Given the description of an element on the screen output the (x, y) to click on. 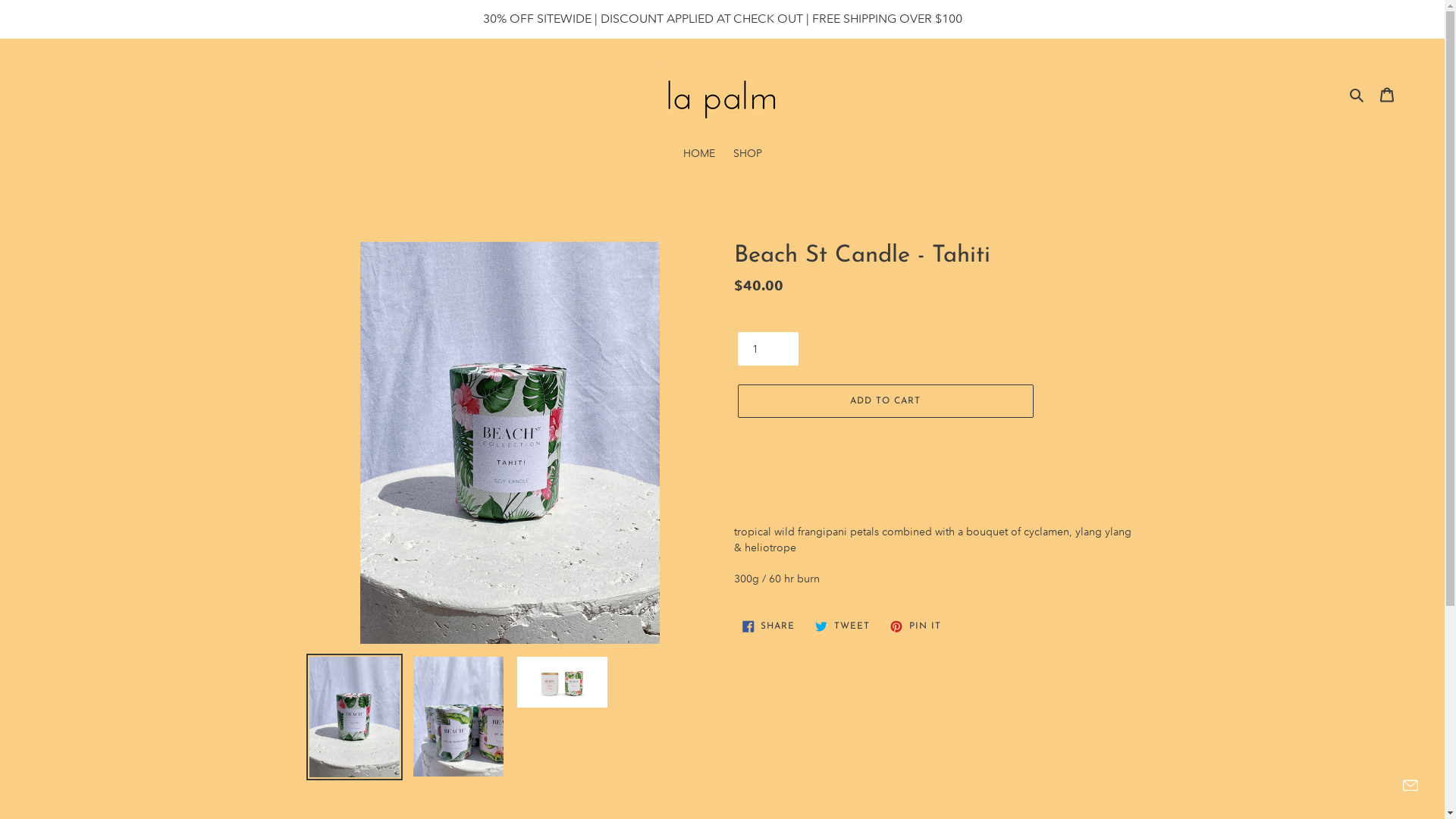
Search Element type: text (1357, 93)
TWEET
TWEET ON TWITTER Element type: text (842, 626)
SHARE
SHARE ON FACEBOOK Element type: text (768, 626)
SHOP Element type: text (746, 154)
ADD TO CART Element type: text (884, 400)
Cart Element type: text (1386, 93)
HOME Element type: text (697, 154)
PIN IT
PIN ON PINTEREST Element type: text (915, 626)
